Given the description of an element on the screen output the (x, y) to click on. 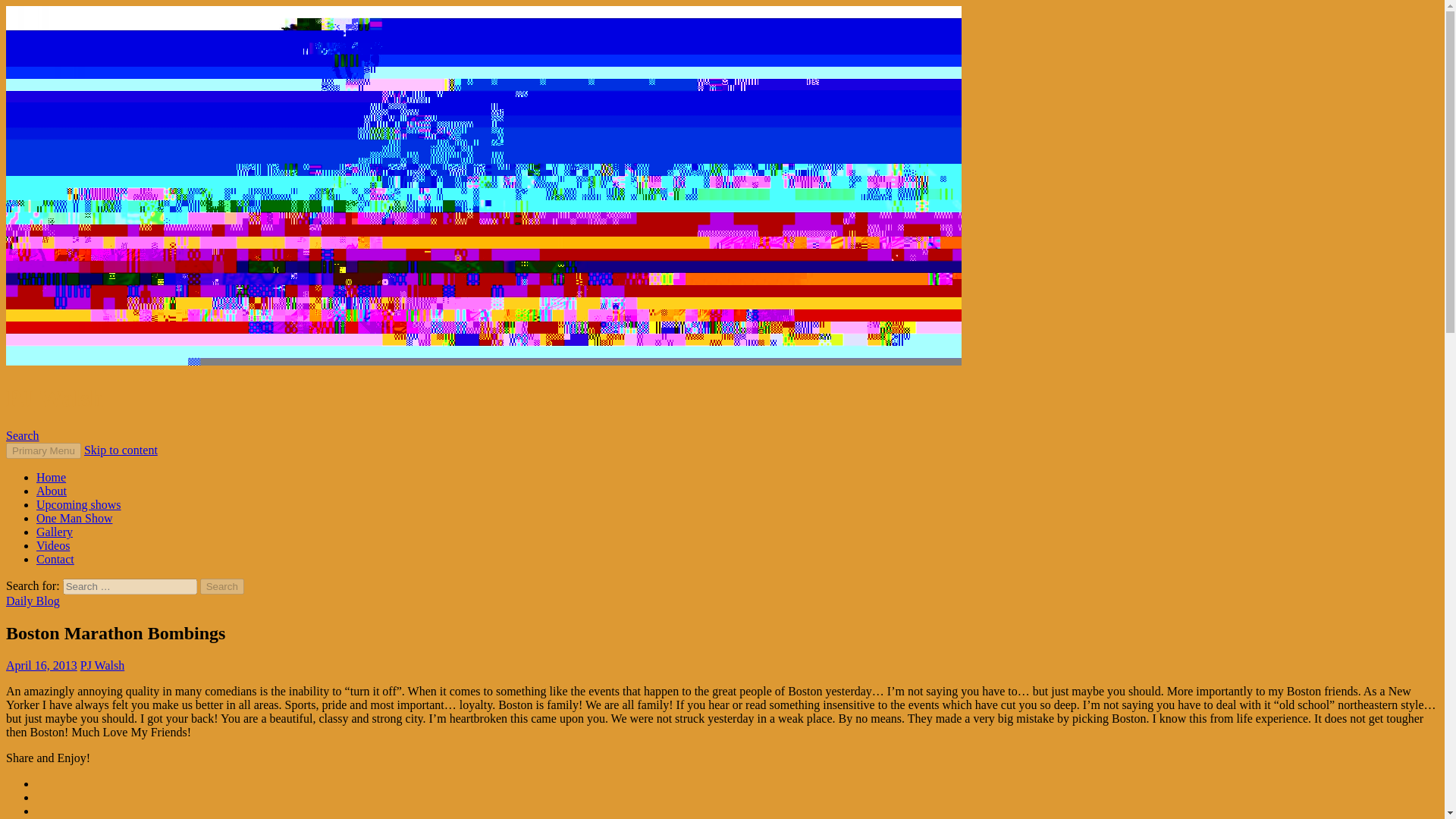
Gallery (54, 531)
April 16, 2013 (41, 665)
Upcoming shows (78, 504)
Daily Blog (32, 600)
Skip to content (120, 449)
Home (50, 477)
Contact (55, 558)
One Man Show (74, 517)
PJ Walsh (54, 397)
Search (222, 586)
PJ Walsh (101, 665)
Primary Menu (43, 450)
Videos (52, 545)
Search (222, 586)
Search (22, 435)
